Given the description of an element on the screen output the (x, y) to click on. 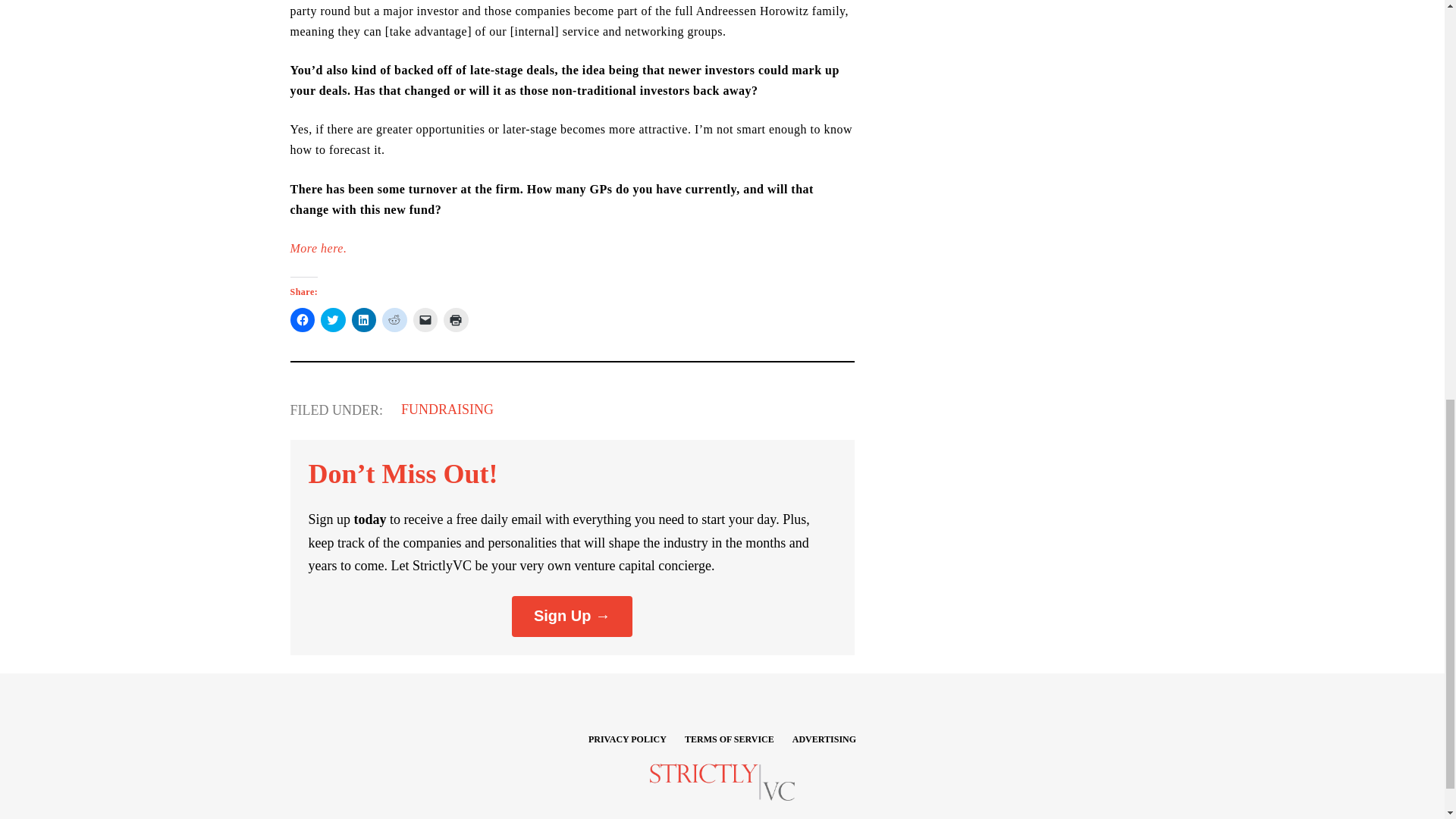
TERMS OF SERVICE (729, 739)
Click to email a link to a friend (425, 319)
Click to share on Twitter (333, 319)
PRIVACY POLICY (627, 739)
Click to share on Reddit (394, 319)
Click to print (456, 319)
Click to share on LinkedIn (364, 319)
Click to share on Facebook (301, 319)
FUNDRAISING (447, 409)
More here. (317, 247)
ADVERTISING (824, 739)
